Given the description of an element on the screen output the (x, y) to click on. 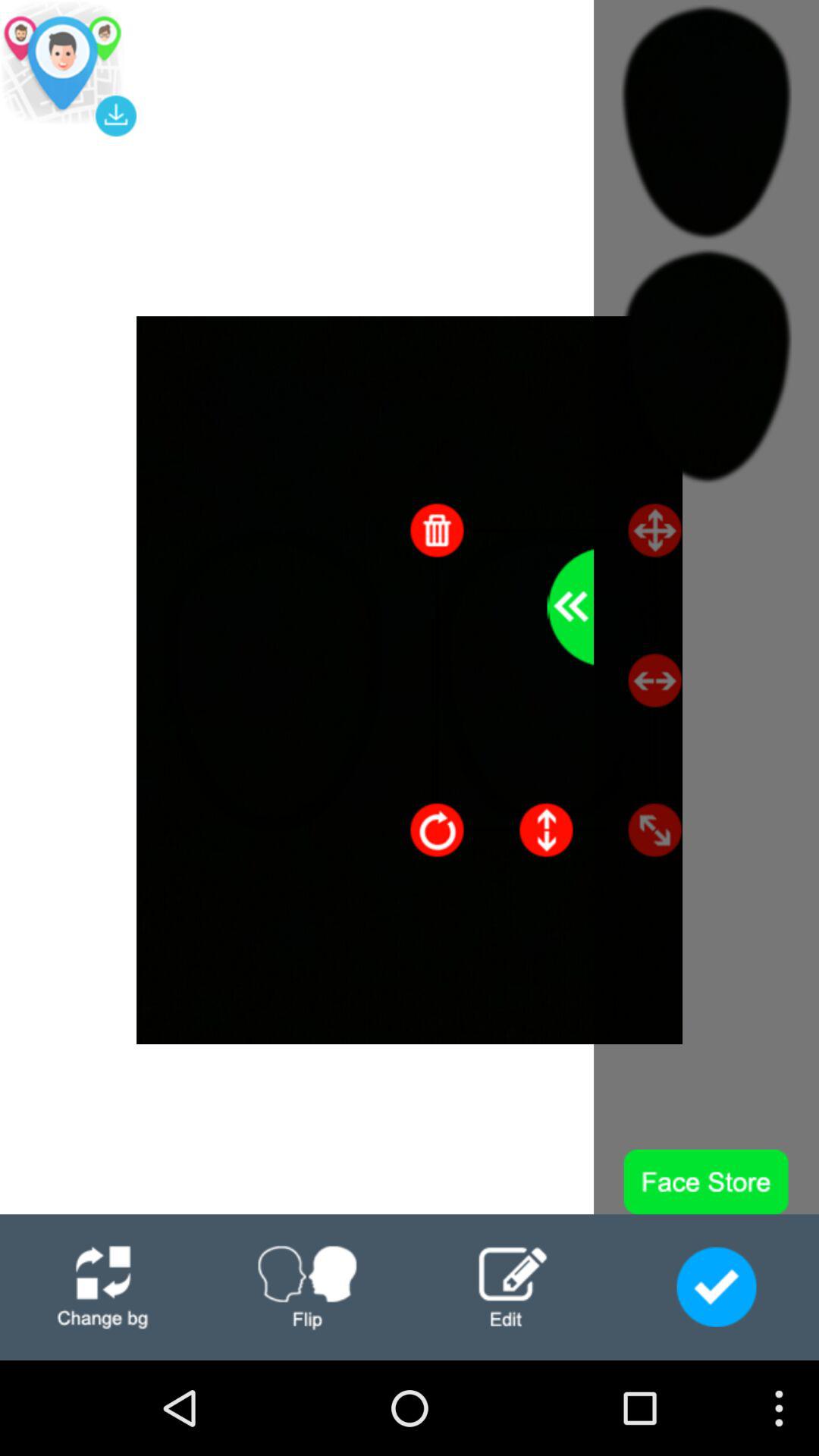
edit button (511, 1287)
